Given the description of an element on the screen output the (x, y) to click on. 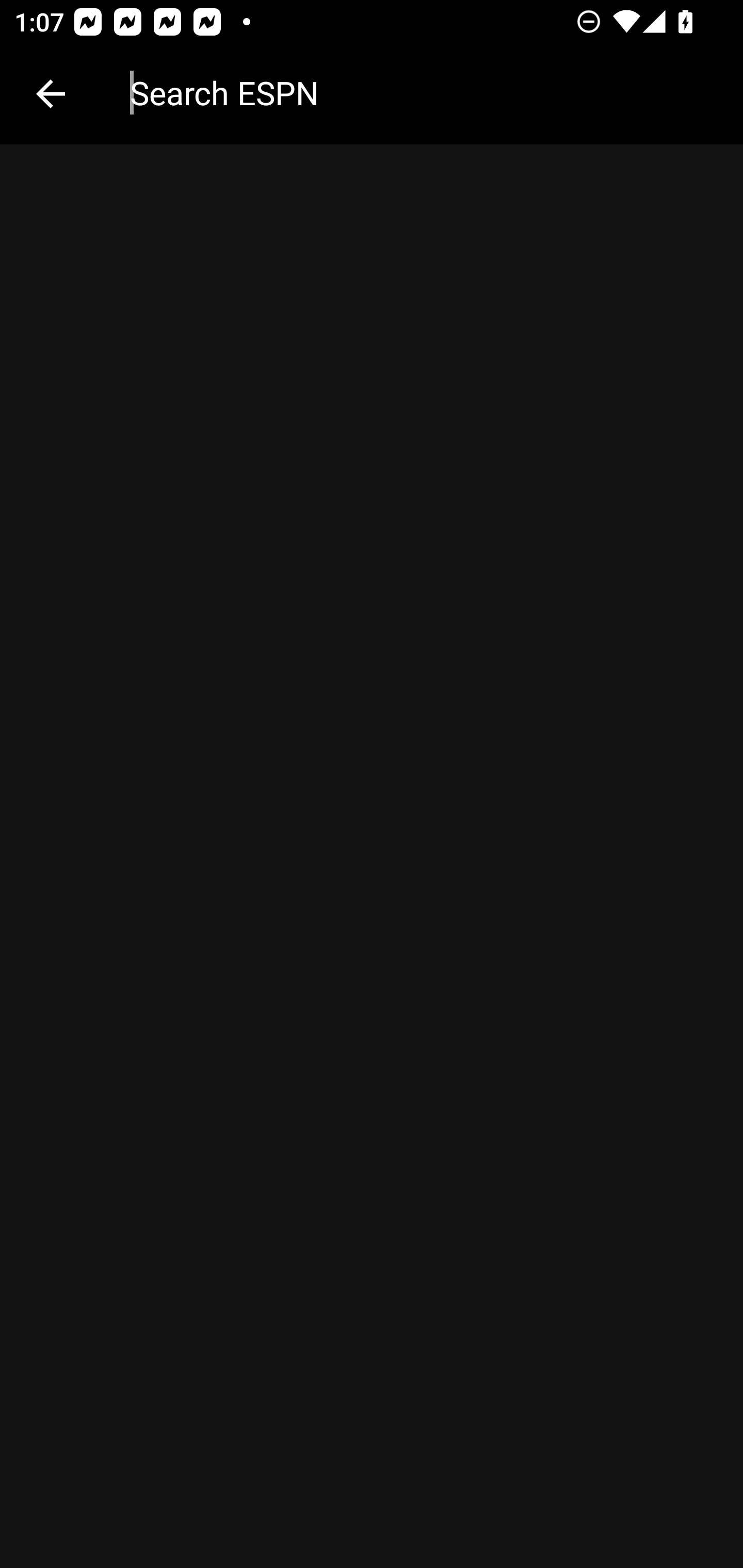
Collapse (50, 93)
Search ESPN (421, 92)
